Given the description of an element on the screen output the (x, y) to click on. 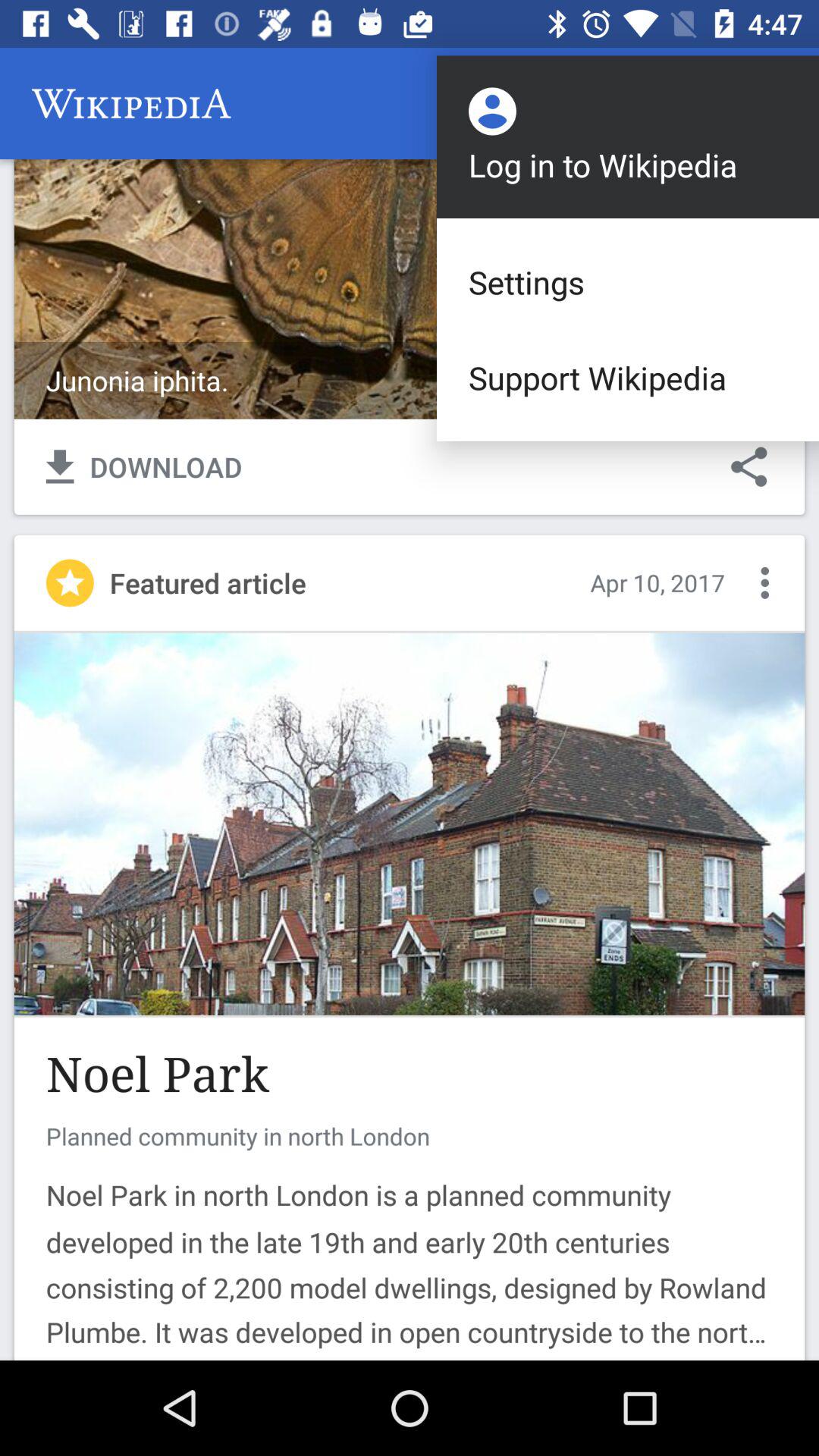
press the icon below the log in to item (627, 281)
